Given the description of an element on the screen output the (x, y) to click on. 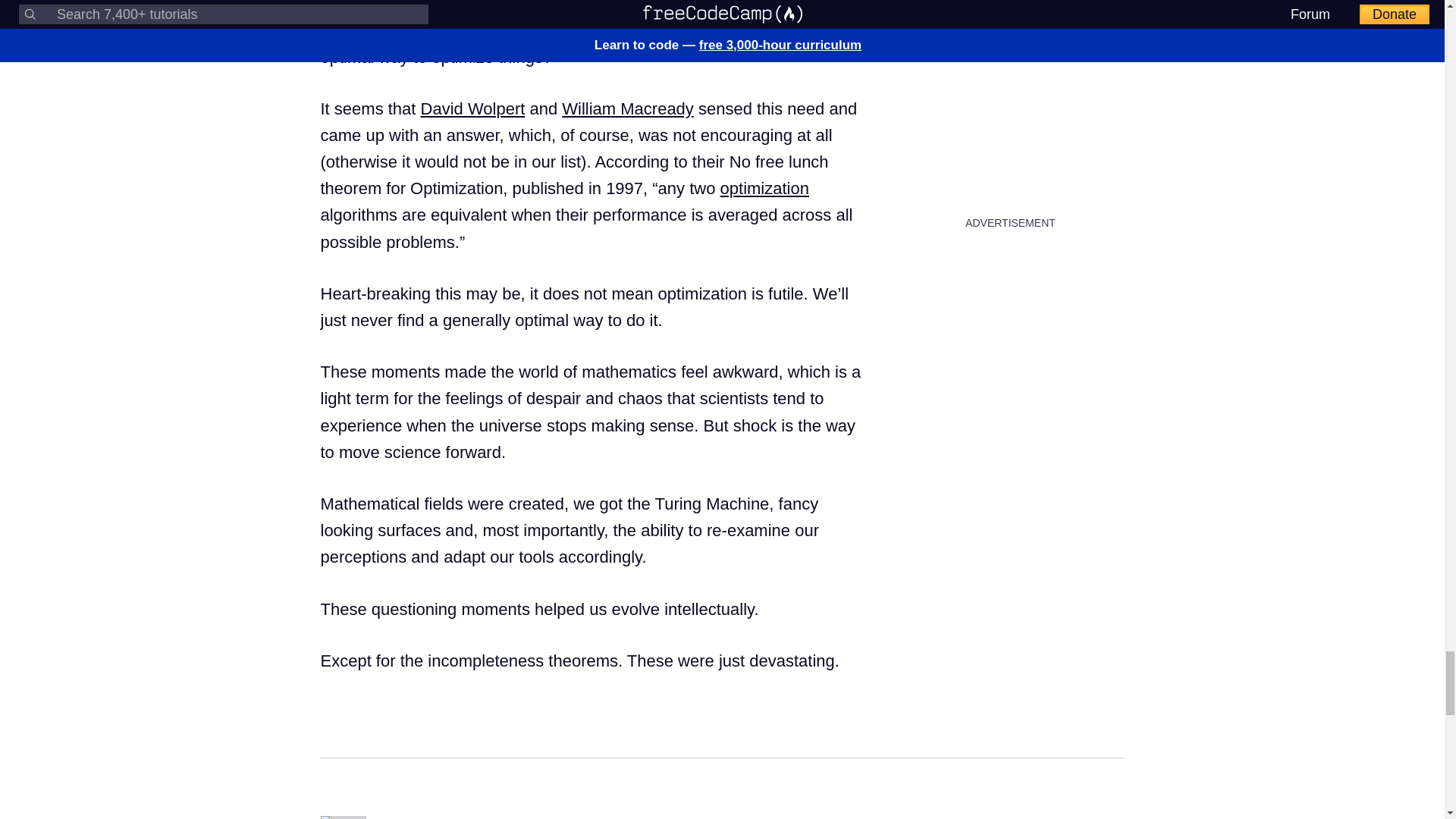
optimization (764, 188)
David Wolpert (472, 108)
William Macready (628, 108)
